Given the description of an element on the screen output the (x, y) to click on. 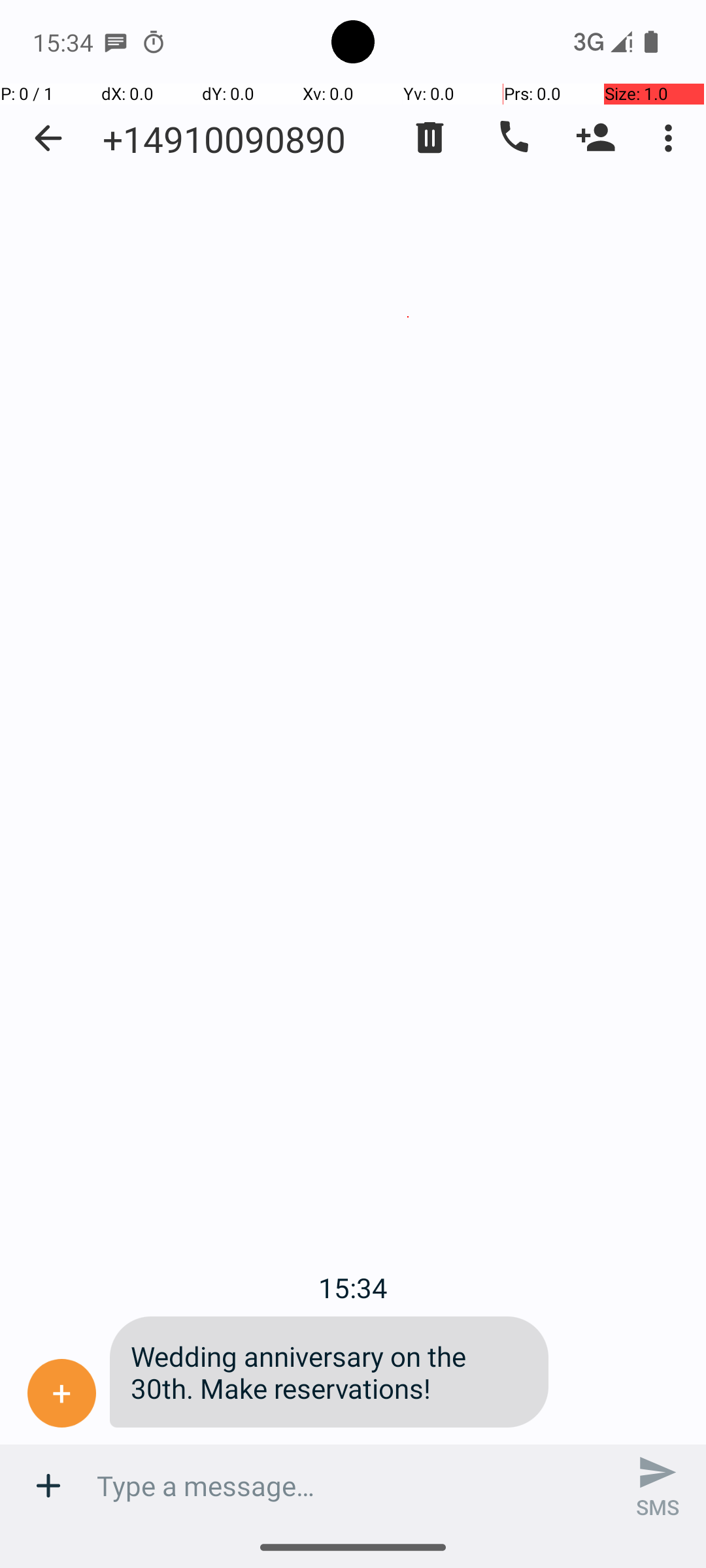
+14910090890 Element type: android.widget.TextView (223, 138)
Wedding anniversary on the 30th. Make reservations! Element type: android.widget.TextView (328, 1371)
